Given the description of an element on the screen output the (x, y) to click on. 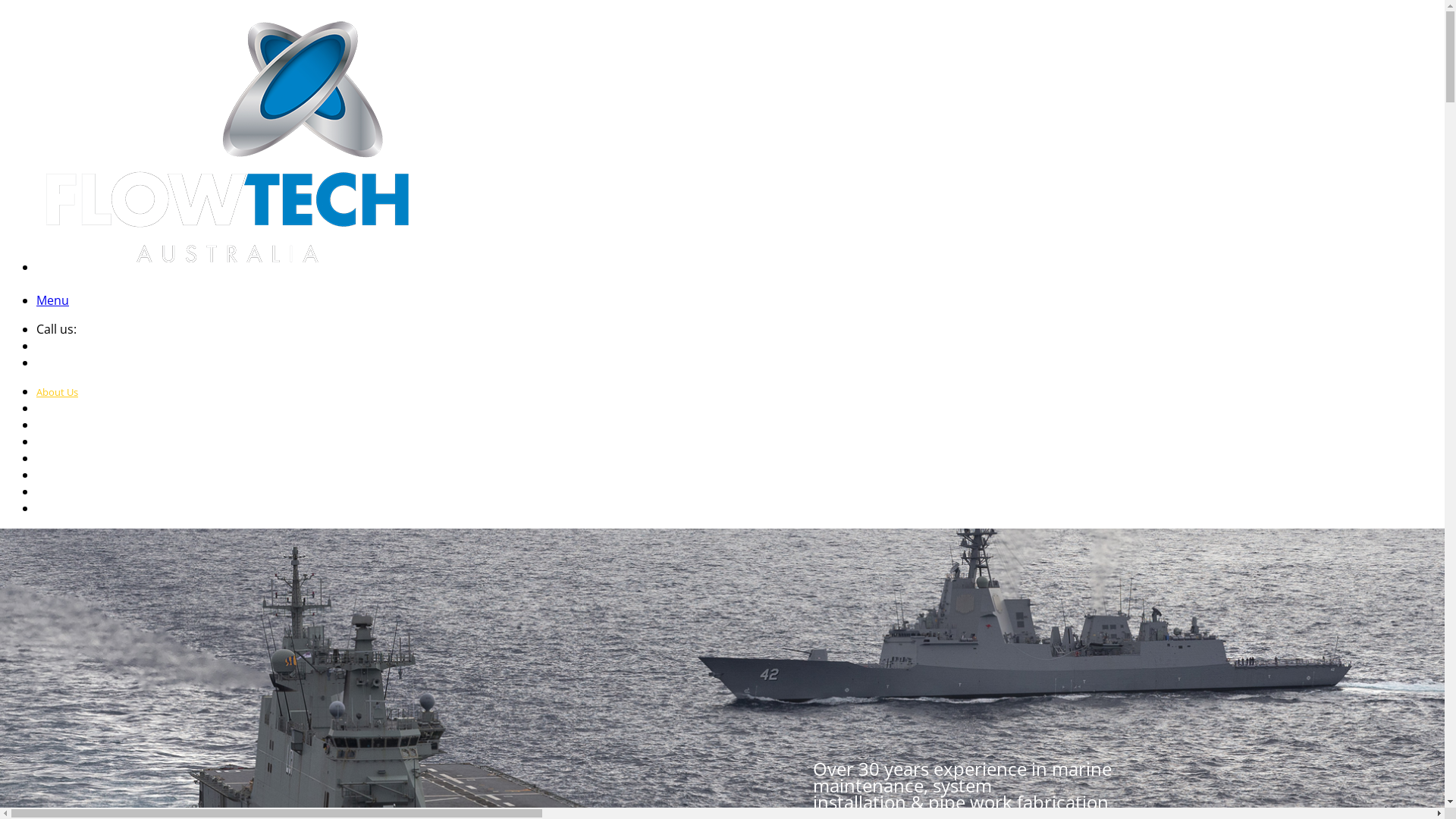
flowtech Australia Element type: hover (225, 263)
MetaLine Element type: text (57, 475)
Pipe / Fittings Element type: text (66, 458)
Services Element type: text (54, 425)
Menu Element type: text (52, 299)
Swagelok Element type: text (57, 441)
CNC Cutter Element type: text (61, 491)
T & C Element type: text (47, 508)
About Us Element type: text (57, 391)
Gallery Element type: text (51, 408)
0405 537 807 Element type: text (108, 329)
